Given the description of an element on the screen output the (x, y) to click on. 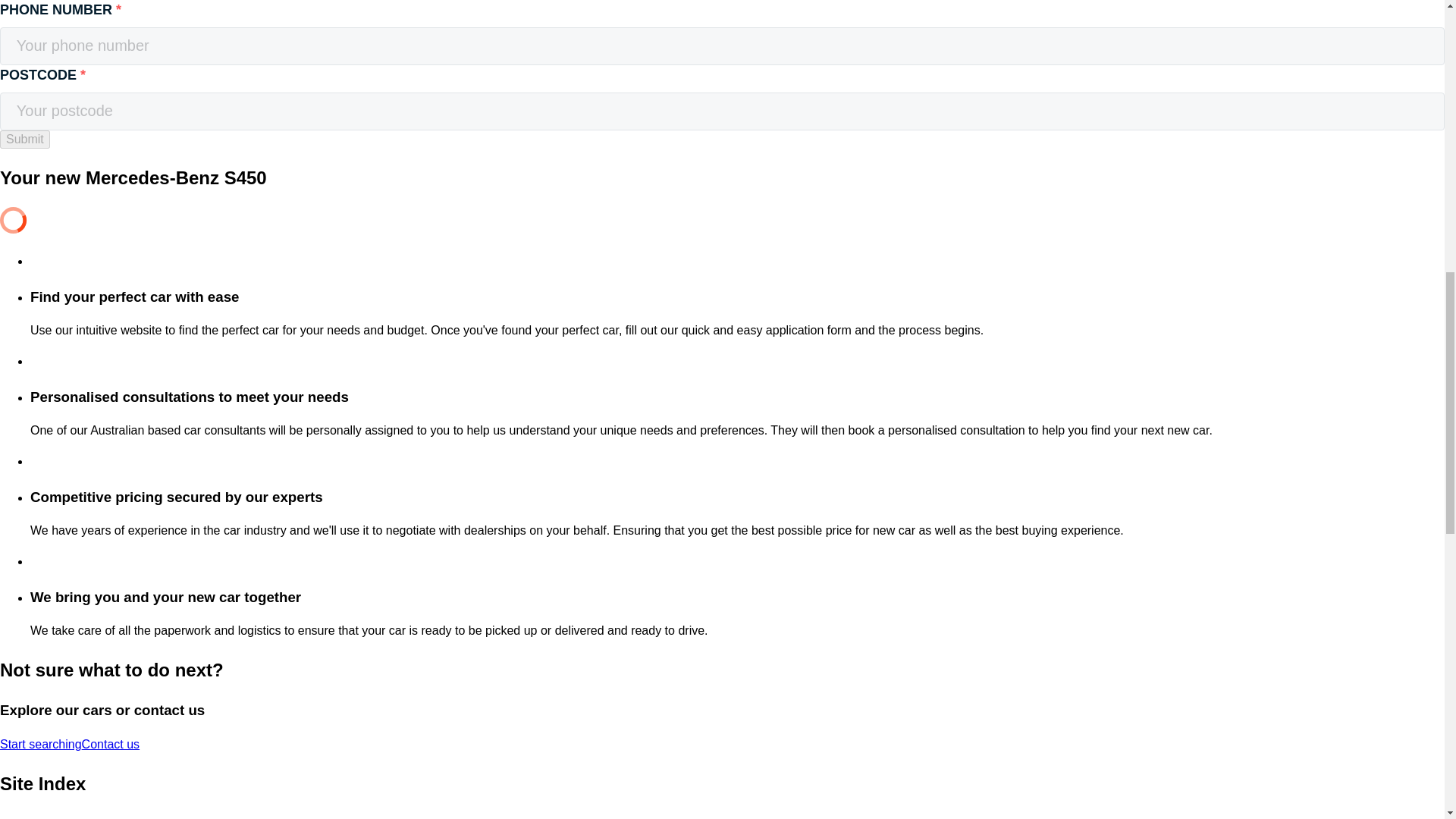
Contact us (110, 744)
Submit (24, 139)
Start searching (40, 744)
